Given the description of an element on the screen output the (x, y) to click on. 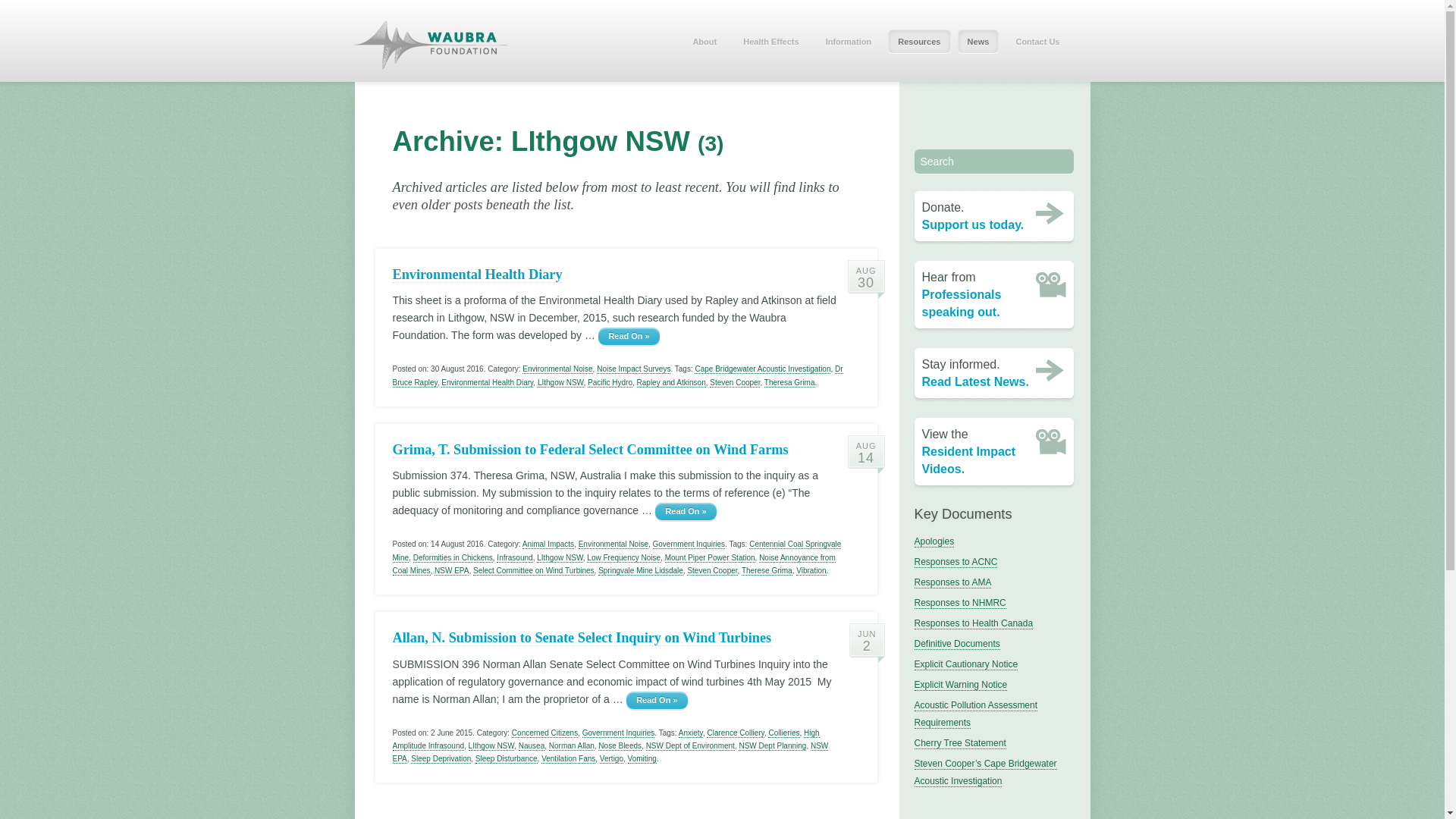
Clarence Colliery Element type: text (734, 732)
Nausea Element type: text (531, 745)
NSW Dept Planning Element type: text (772, 745)
Mount Piper Power Station Element type: text (710, 557)
Steven Cooper Element type: text (734, 382)
High Amplitude Infrasound Element type: text (605, 739)
Norman Allan Element type: text (571, 745)
Environmental Noise Element type: text (557, 368)
Deformities in Chickens Element type: text (452, 557)
Dr Bruce Rapley Element type: text (617, 375)
Responses to Health Canada Element type: text (973, 623)
Environmental Health Diary Element type: text (487, 382)
Professionals speaking out. Element type: text (961, 303)
Contact Us Element type: text (1037, 41)
Cherry Tree Statement Element type: text (960, 743)
NSW EPA Element type: text (451, 570)
Anxiety Element type: text (690, 732)
Cape Bridgewater Acoustic Investigation Element type: text (762, 368)
Government Inquiries Element type: text (618, 732)
Noise Impact Surveys Element type: text (633, 368)
Explicit Cautionary Notice Element type: text (966, 664)
NSW Dept of Environment Element type: text (690, 745)
News Element type: text (978, 41)
LIthgow NSW Element type: text (491, 745)
Responses to ACNC Element type: text (955, 561)
About Element type: text (704, 41)
Health Effects Element type: text (770, 41)
Therese Grima Element type: text (766, 570)
Search Element type: hover (993, 161)
Vertigo Element type: text (611, 758)
Noise Annoyance from Coal Mines Element type: text (613, 564)
Responses to AMA Element type: text (952, 582)
Theresa Grima Element type: text (789, 382)
Environmental Noise Element type: text (613, 544)
Information Element type: text (848, 41)
Sleep Disturbance Element type: text (506, 758)
Vibration Element type: text (810, 570)
Rapley and Atkinson Element type: text (671, 382)
Concerned Citizens Element type: text (544, 732)
Read Latest News. Element type: text (975, 381)
Explicit Warning Notice Element type: text (960, 684)
Environmental Health Diary Element type: text (477, 274)
Infrasound Element type: text (514, 557)
LIthgow NSW Element type: text (560, 382)
Ventilation Fans Element type: text (568, 758)
Steven Cooper Element type: text (712, 570)
Responses to NHMRC Element type: text (960, 602)
Pacific Hydro Element type: text (609, 382)
Vomiting Element type: text (641, 758)
Resources Element type: text (919, 41)
Government Inquiries Element type: text (688, 544)
NSW EPA Element type: text (610, 752)
Springvale Mine Lidsdale Element type: text (640, 570)
Low Frequency Noise Element type: text (623, 557)
Animal Impacts Element type: text (548, 544)
Collieries Element type: text (783, 732)
Resident Impact Videos. Element type: text (969, 460)
Acoustic Pollution Assessment Requirements Element type: text (976, 713)
Select Committee on Wind Turbines Element type: text (533, 570)
Apologies Element type: text (934, 541)
Support us today. Element type: text (973, 224)
Centennial Coal Springvale Mine Element type: text (616, 550)
Sleep Deprivation Element type: text (440, 758)
Nose Bleeds Element type: text (619, 745)
LIthgow NSW Element type: text (559, 557)
Definitive Documents Element type: text (957, 643)
